Given the description of an element on the screen output the (x, y) to click on. 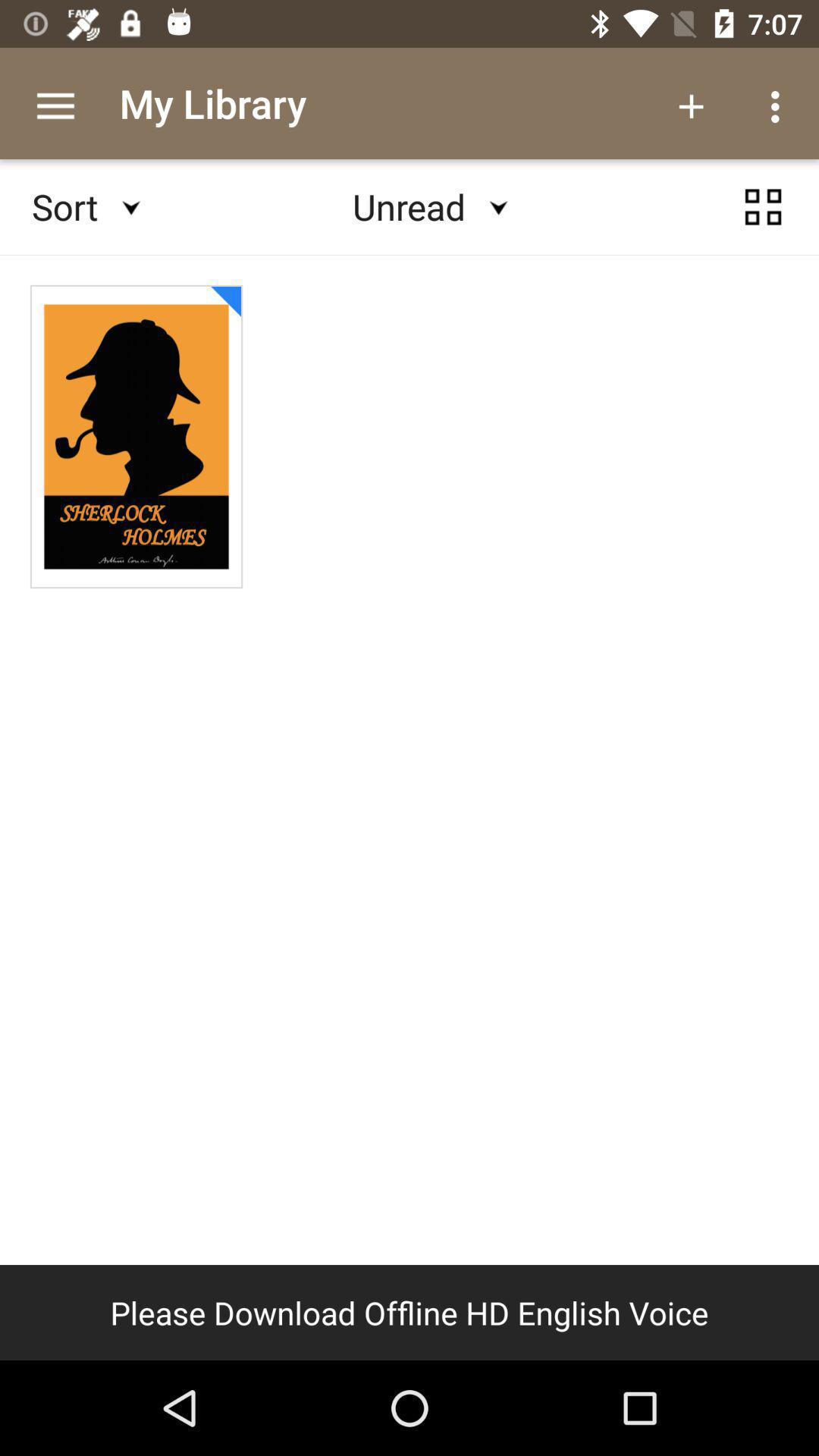
grid view (763, 206)
